Given the description of an element on the screen output the (x, y) to click on. 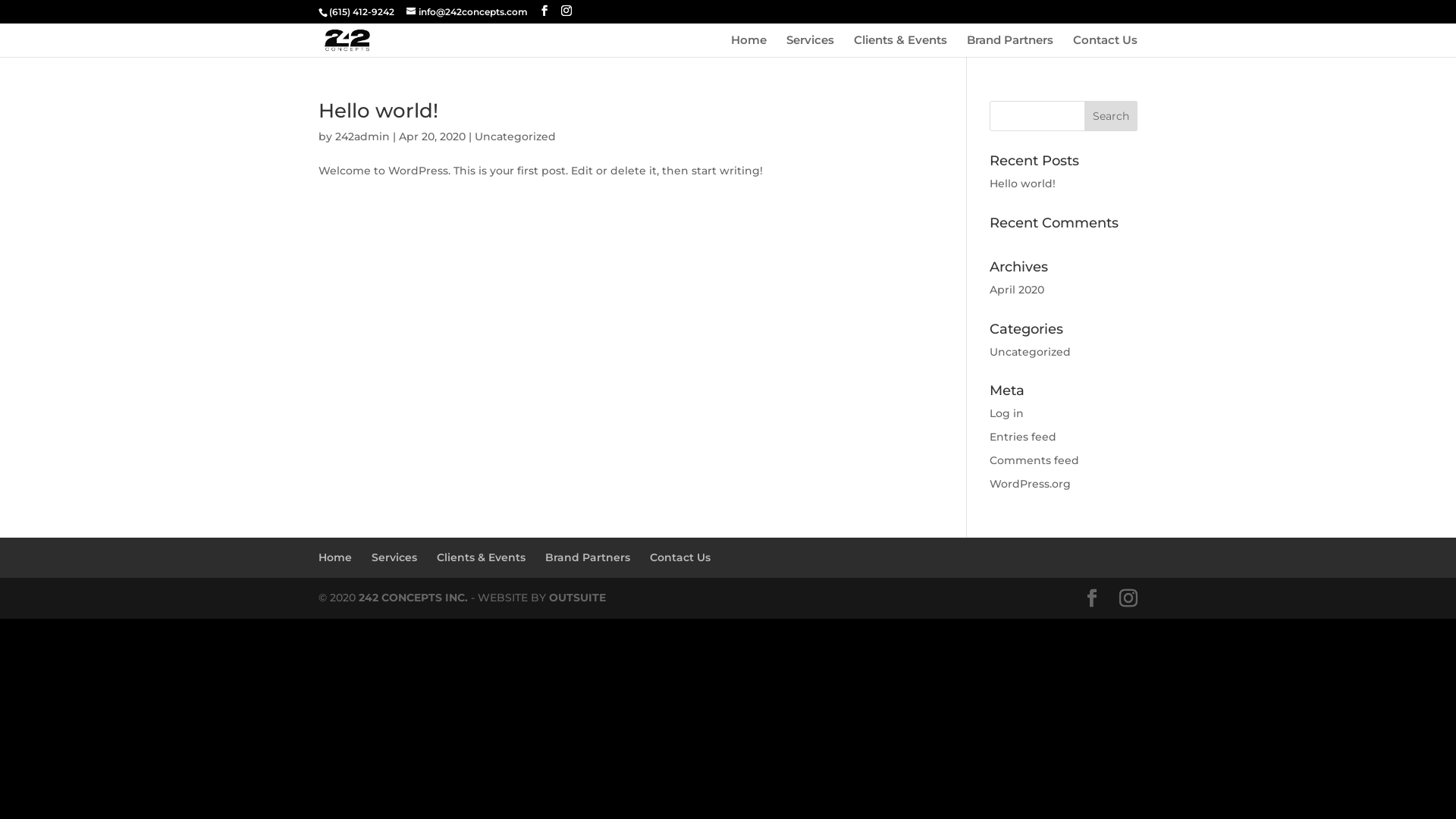
Uncategorized Element type: text (514, 136)
Log in Element type: text (1006, 413)
Contact Us Element type: text (679, 557)
Hello world! Element type: text (378, 110)
Services Element type: text (810, 45)
Clients & Events Element type: text (480, 557)
Brand Partners Element type: text (587, 557)
Brand Partners Element type: text (1009, 45)
242admin Element type: text (362, 136)
Home Element type: text (334, 557)
April 2020 Element type: text (1016, 289)
Clients & Events Element type: text (900, 45)
Contact Us Element type: text (1105, 45)
Home Element type: text (748, 45)
WordPress.org Element type: text (1029, 483)
OUTSUITE Element type: text (577, 597)
Uncategorized Element type: text (1029, 351)
242 CONCEPTS INC. Element type: text (412, 597)
Comments feed Element type: text (1034, 460)
Hello world! Element type: text (1022, 183)
Search Element type: text (1110, 115)
Services Element type: text (394, 557)
info@242concepts.com Element type: text (466, 11)
Entries feed Element type: text (1022, 436)
